Given the description of an element on the screen output the (x, y) to click on. 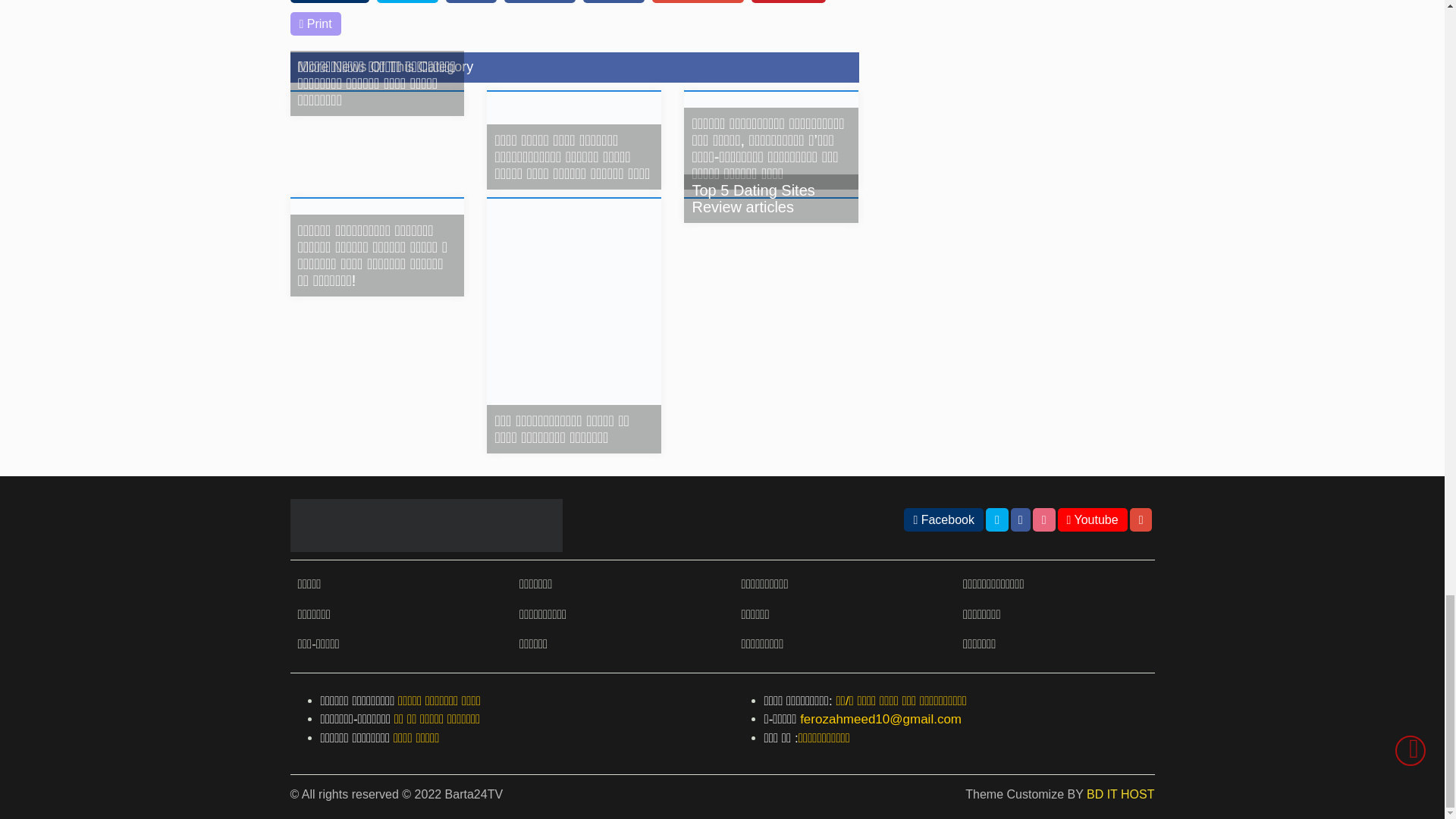
Facebook (329, 1)
Reddit (614, 1)
Digg (470, 1)
Twitter (407, 1)
Linkedin (539, 1)
